Given the description of an element on the screen output the (x, y) to click on. 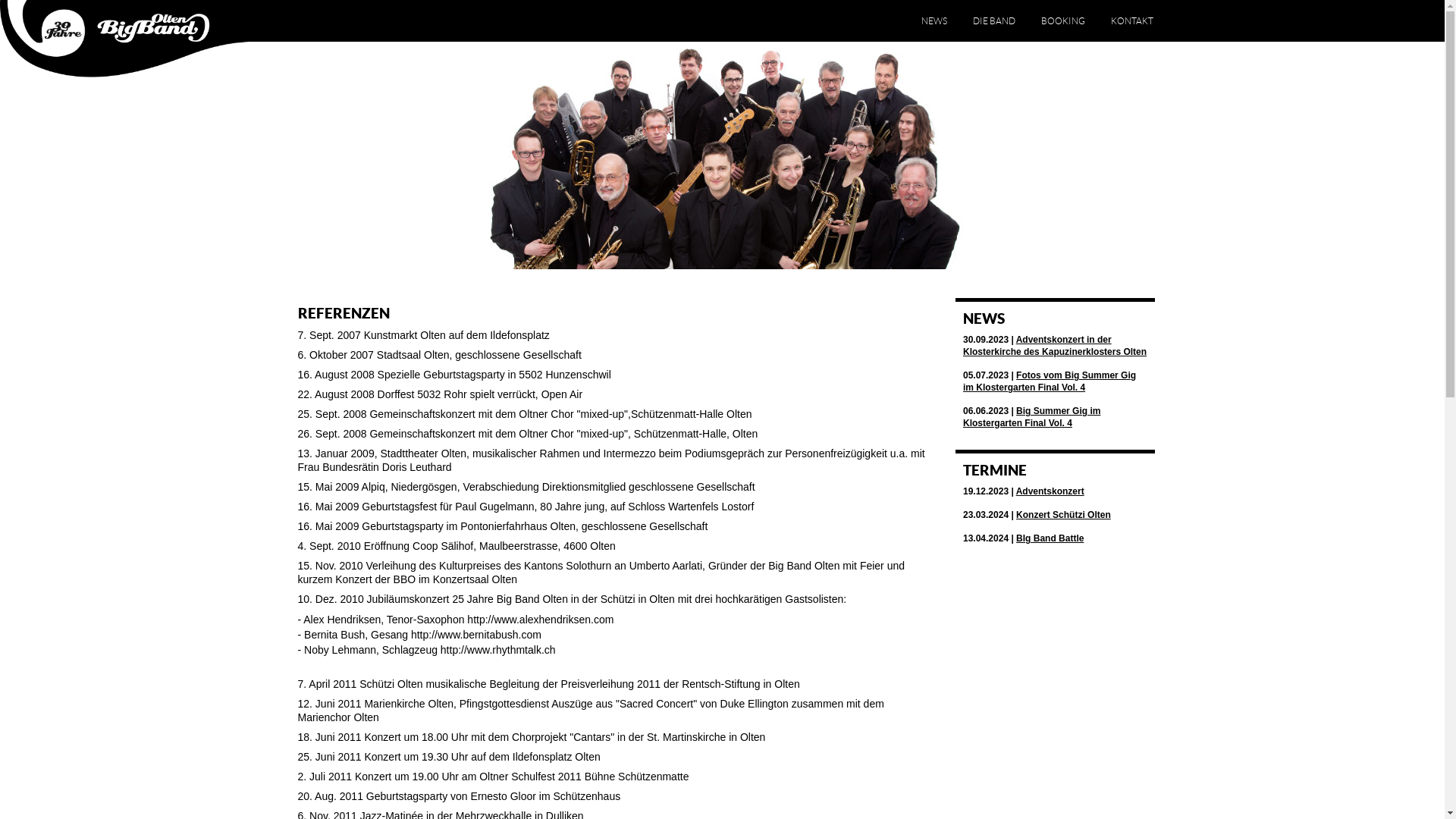
Big Summer Gig im Klostergarten Final Vol. 4 Element type: text (1031, 416)
NEWS Element type: text (933, 20)
BOOKING Element type: text (1062, 20)
TERMINE Element type: text (994, 469)
KONTAKT Element type: text (1131, 20)
BIg Band Battle Element type: text (1049, 538)
Fotos vom Big Summer Gig im Klostergarten Final Vol. 4 Element type: text (1049, 381)
NEWS Element type: text (983, 318)
Adventskonzert Element type: text (1050, 491)
DIE BAND Element type: text (993, 20)
